Given the description of an element on the screen output the (x, y) to click on. 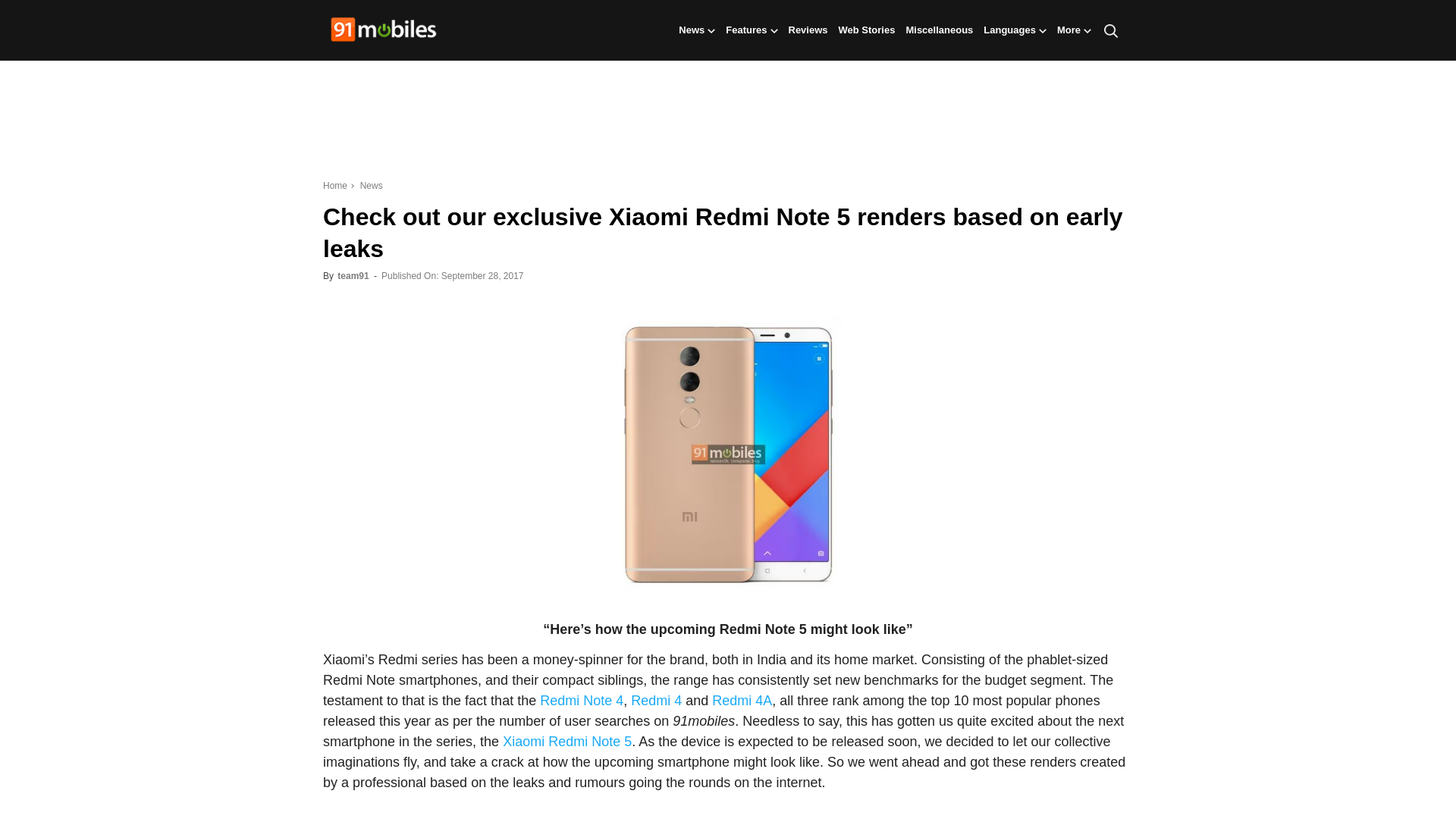
Search (1091, 102)
91mobiles (383, 31)
View all posts in News (368, 185)
3rd party ad content (727, 120)
